Given the description of an element on the screen output the (x, y) to click on. 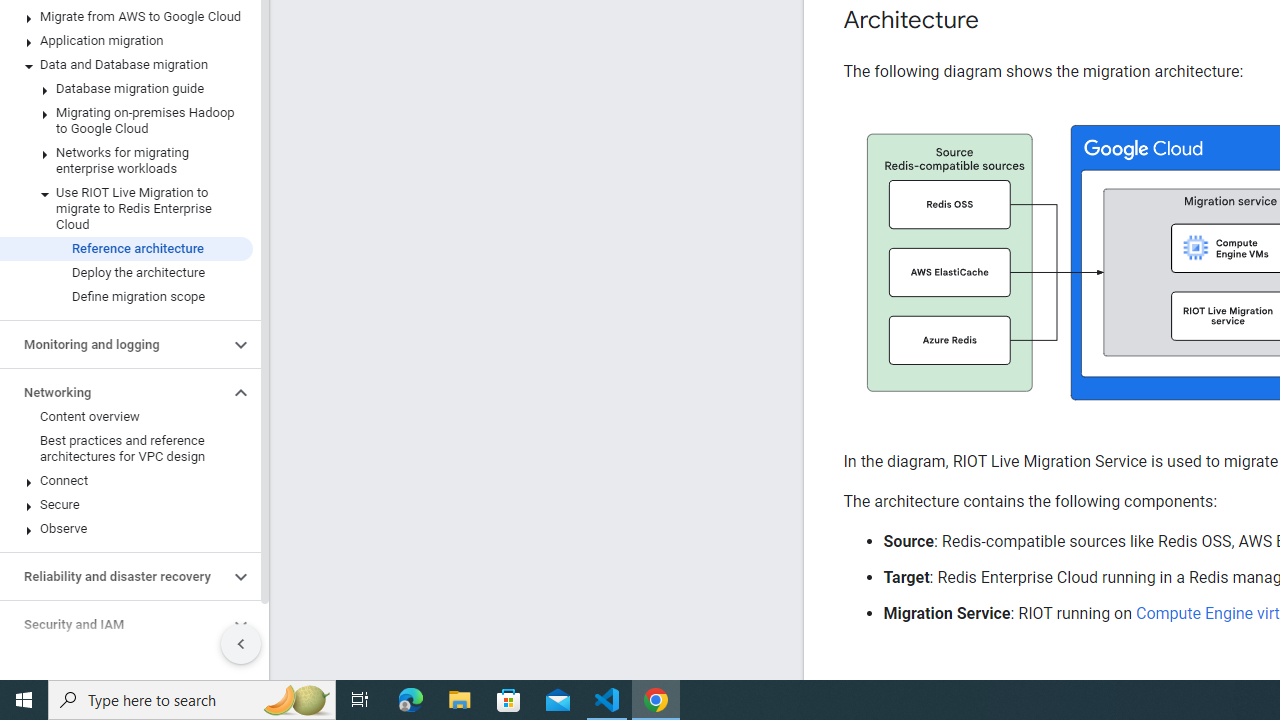
Copy link to this section: Architecture (997, 20)
Migrating on-premises Hadoop to Google Cloud (126, 120)
Storage (114, 672)
Use RIOT Live Migration to migrate to Redis Enterprise Cloud (126, 208)
Data and Database migration (126, 65)
Reference architecture (126, 248)
Content overview (126, 416)
Define migration scope (126, 296)
Connect (126, 480)
Best practices and reference architectures for VPC design (126, 448)
Migrate from AWS to Google Cloud (126, 16)
Security and IAM (114, 624)
Observe (126, 528)
Monitoring and logging (114, 344)
